Given the description of an element on the screen output the (x, y) to click on. 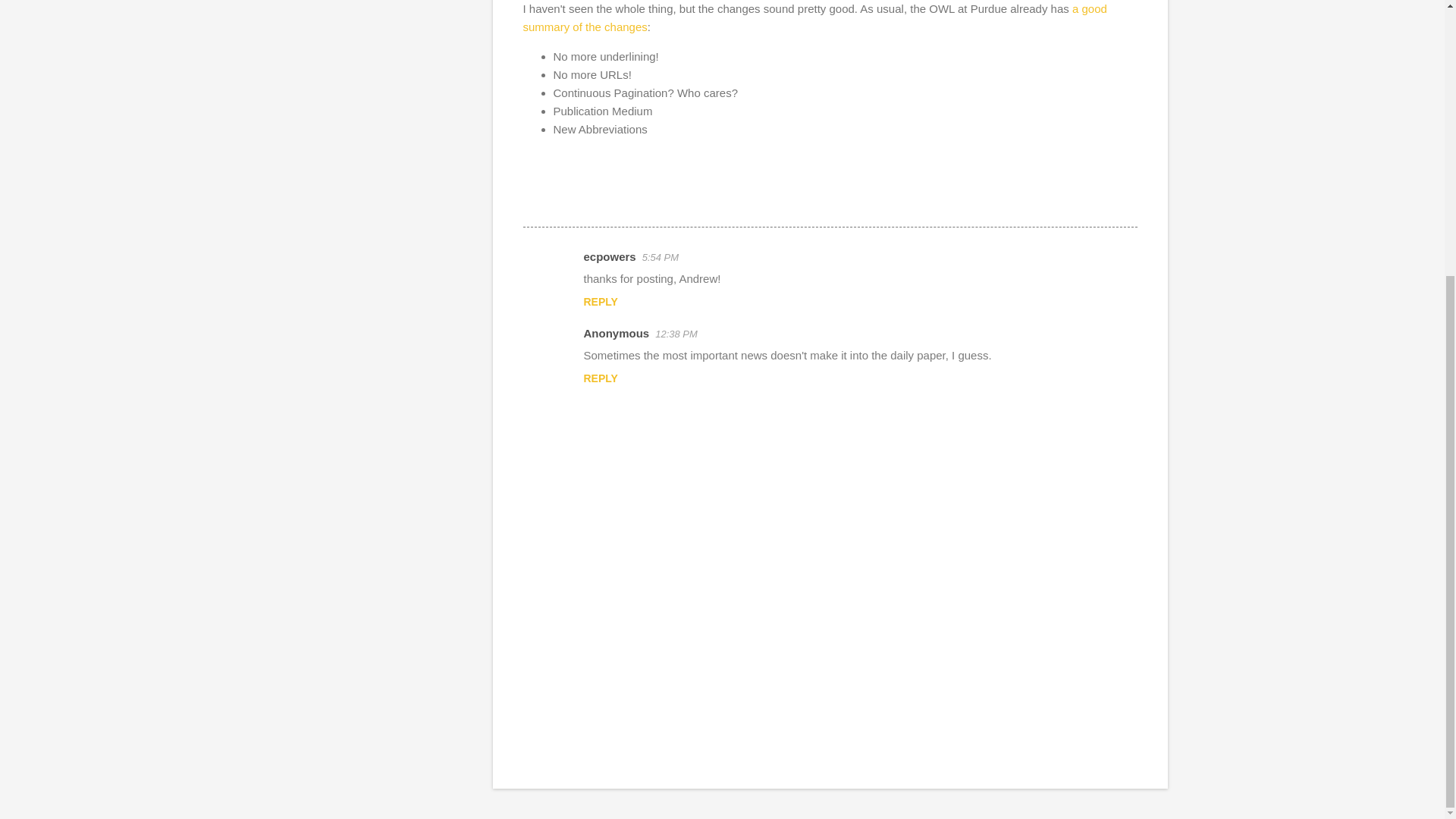
ecpowers (609, 256)
12:38 PM (676, 333)
REPLY (600, 301)
a good summary of the changes (814, 17)
5:54 PM (660, 256)
Email Post (531, 199)
REPLY (600, 378)
